Given the description of an element on the screen output the (x, y) to click on. 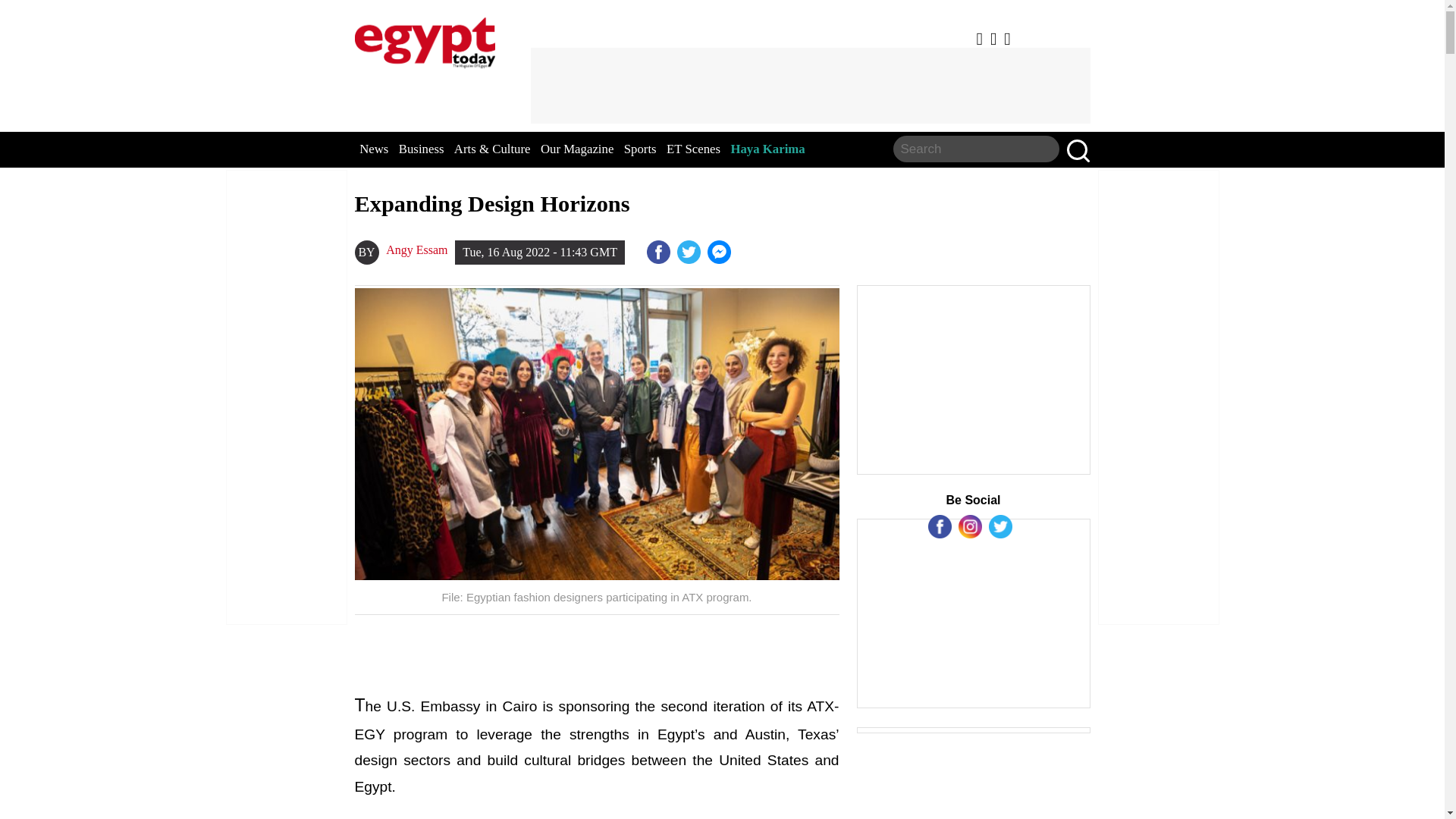
Sisi heads to Guinea first destination in overseas tour (720, 251)
Business (421, 149)
Our Magazine (576, 149)
Haya Karima (767, 149)
Sports (640, 149)
ET Scenes (693, 149)
Angy Essam (415, 250)
EgyptToday (425, 39)
